Given the description of an element on the screen output the (x, y) to click on. 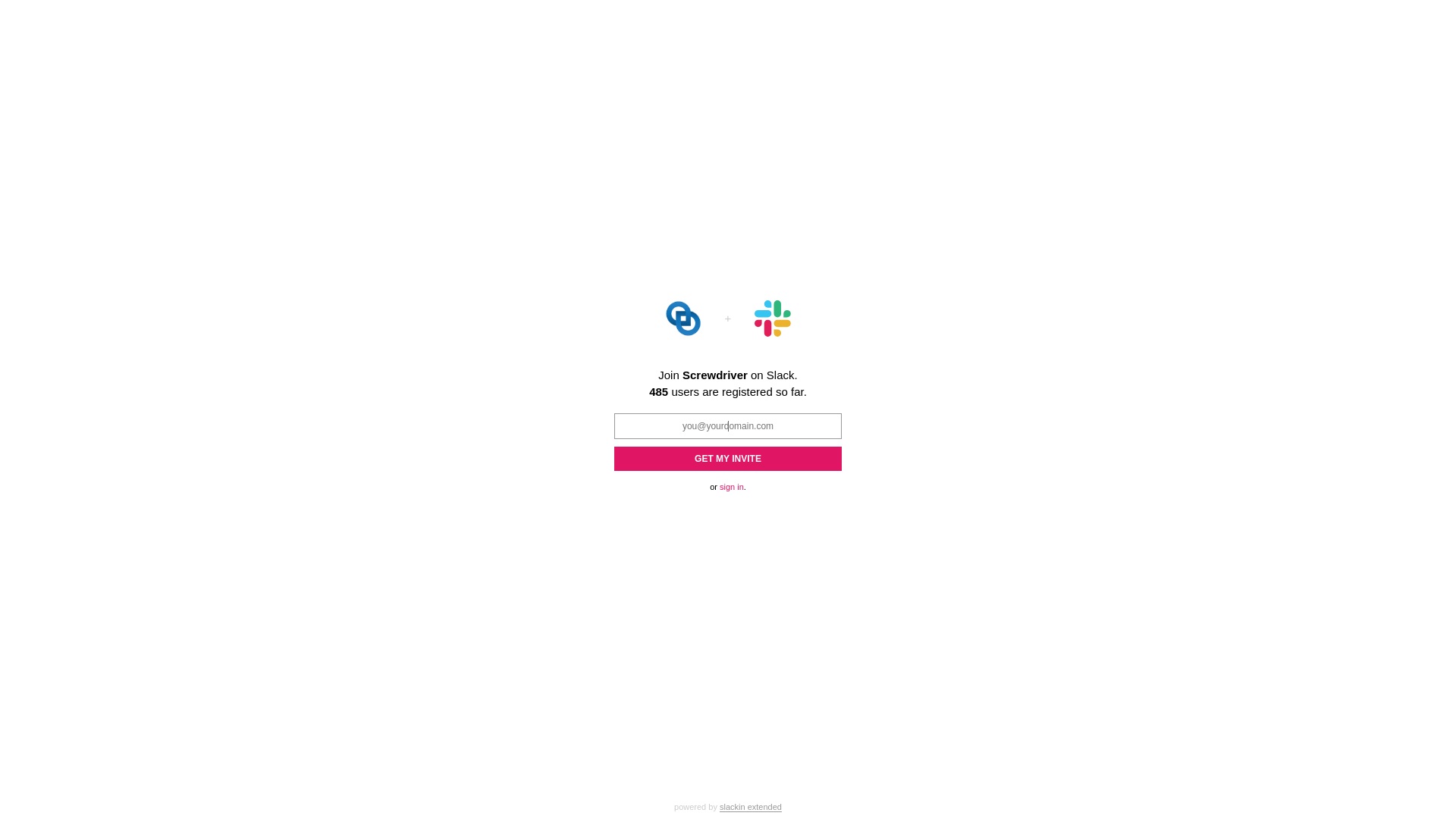
GET MY INVITE Element type: text (727, 457)
slackin extended Element type: text (750, 807)
sign in Element type: text (731, 486)
